Given the description of an element on the screen output the (x, y) to click on. 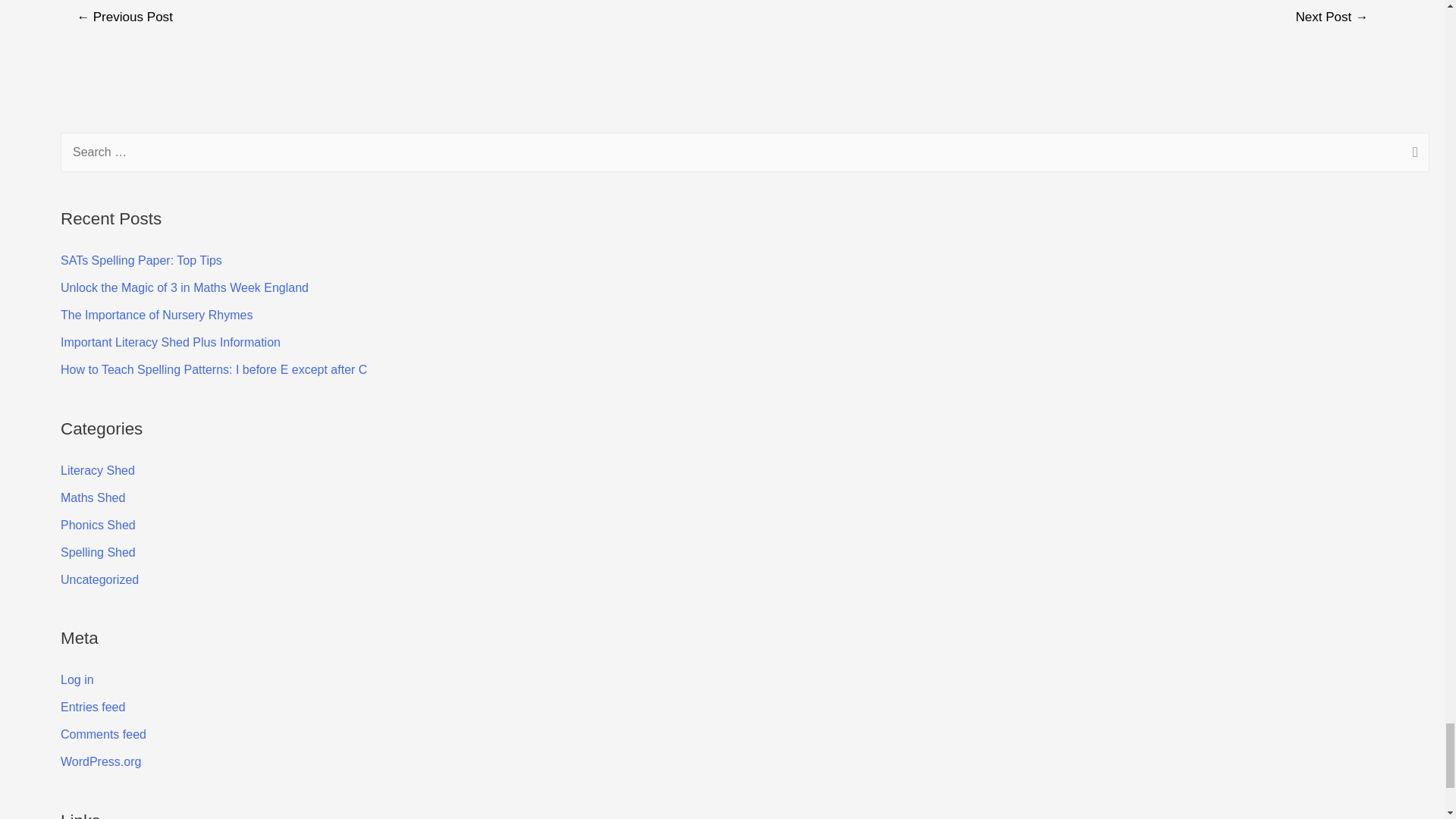
How to Teach Spelling Patterns: I before E except after C (213, 369)
Unlock the Magic of 3 in Maths Week England (184, 287)
Literacy Shed (98, 470)
Maths Shed (93, 497)
Comments feed (104, 734)
Phonics Shed (98, 524)
Important Literacy Shed Plus Information (171, 341)
The Importance of Nursery Rhymes (156, 314)
Entries feed (93, 707)
Log in (77, 679)
